Given the description of an element on the screen output the (x, y) to click on. 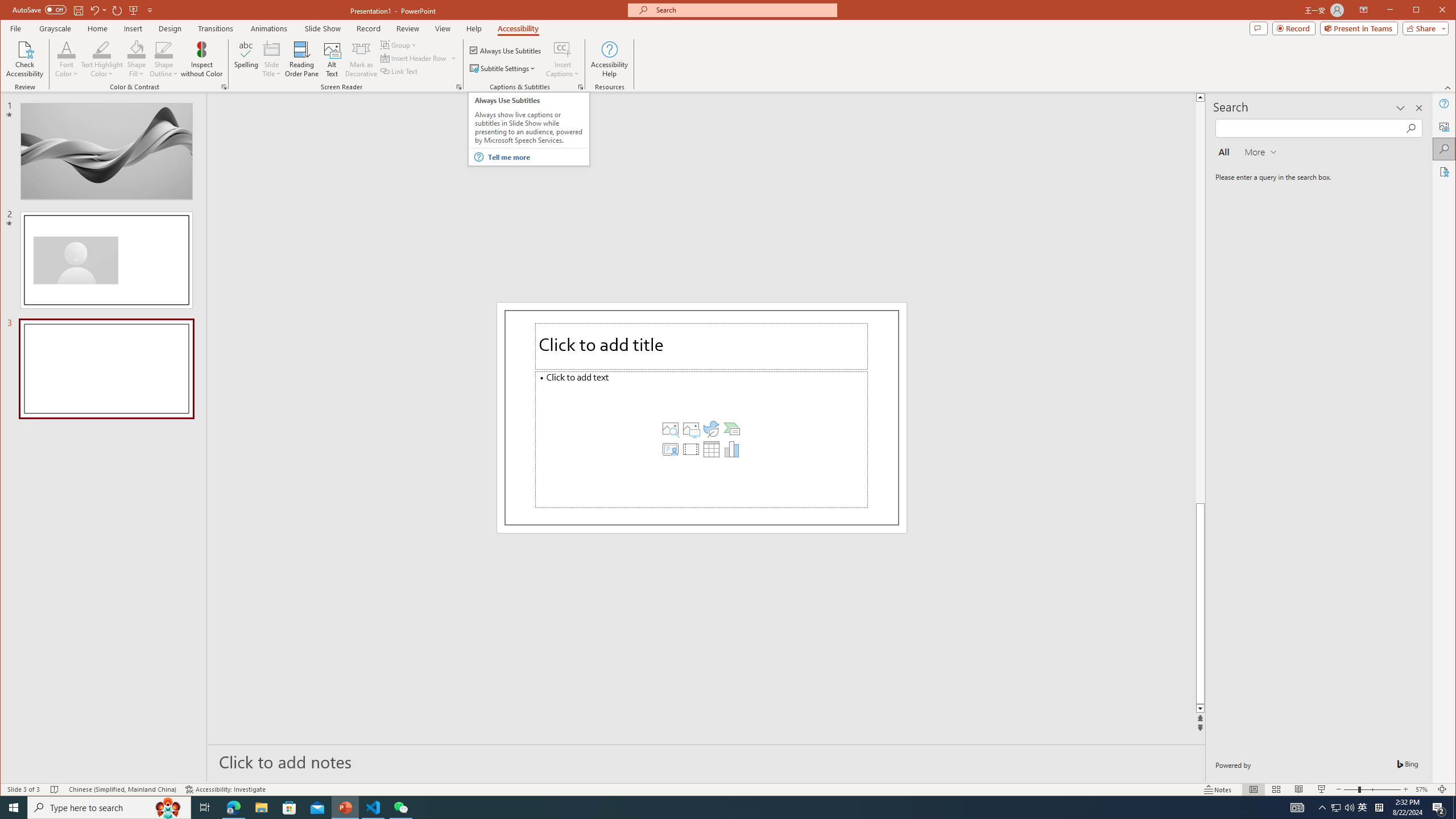
Link Text (399, 70)
Slide Title (271, 59)
